Given the description of an element on the screen output the (x, y) to click on. 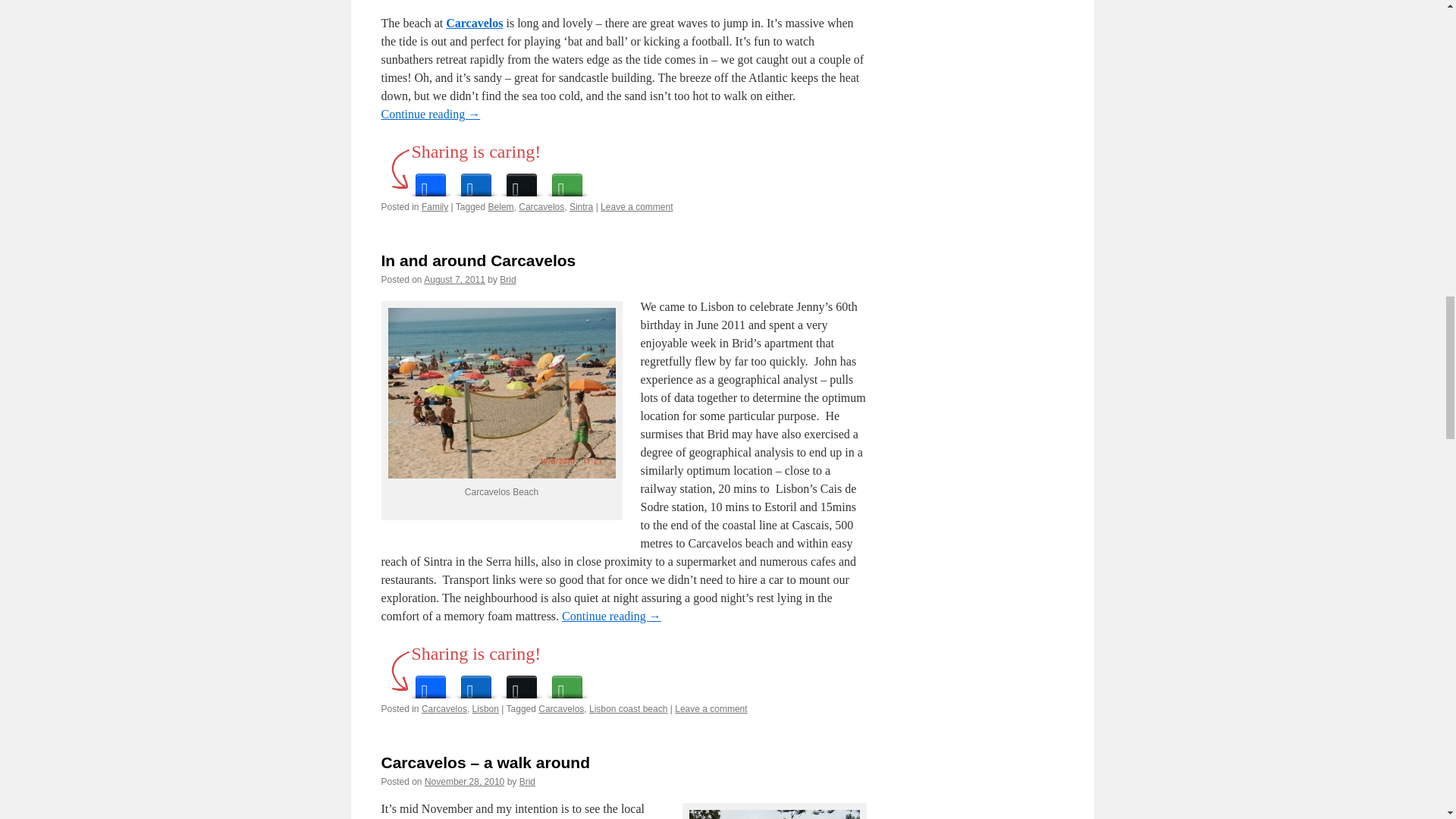
LinkedIn (475, 180)
Facebook (429, 180)
